Given the description of an element on the screen output the (x, y) to click on. 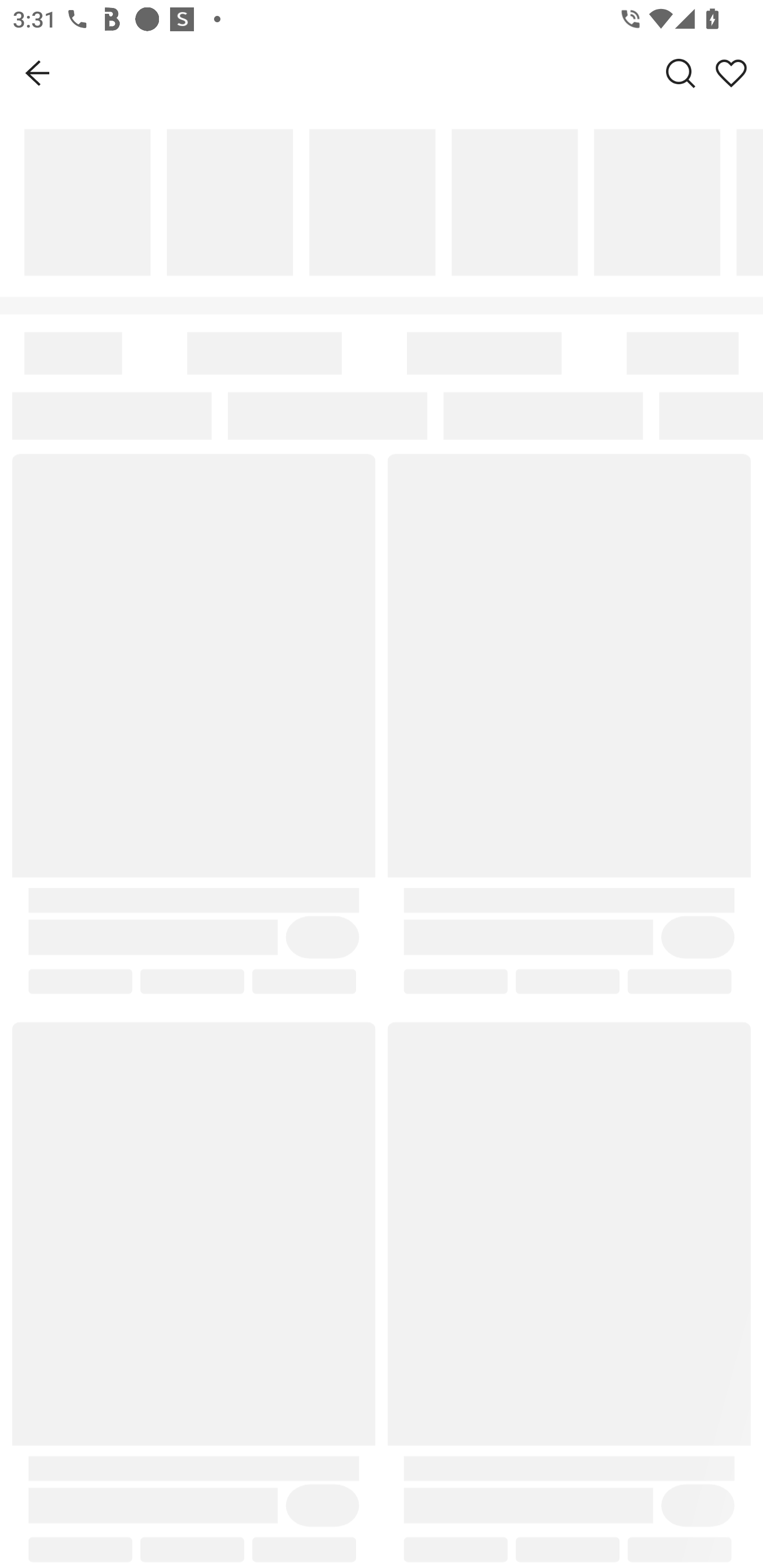
Search (679, 72)
Share (730, 72)
